Given the description of an element on the screen output the (x, y) to click on. 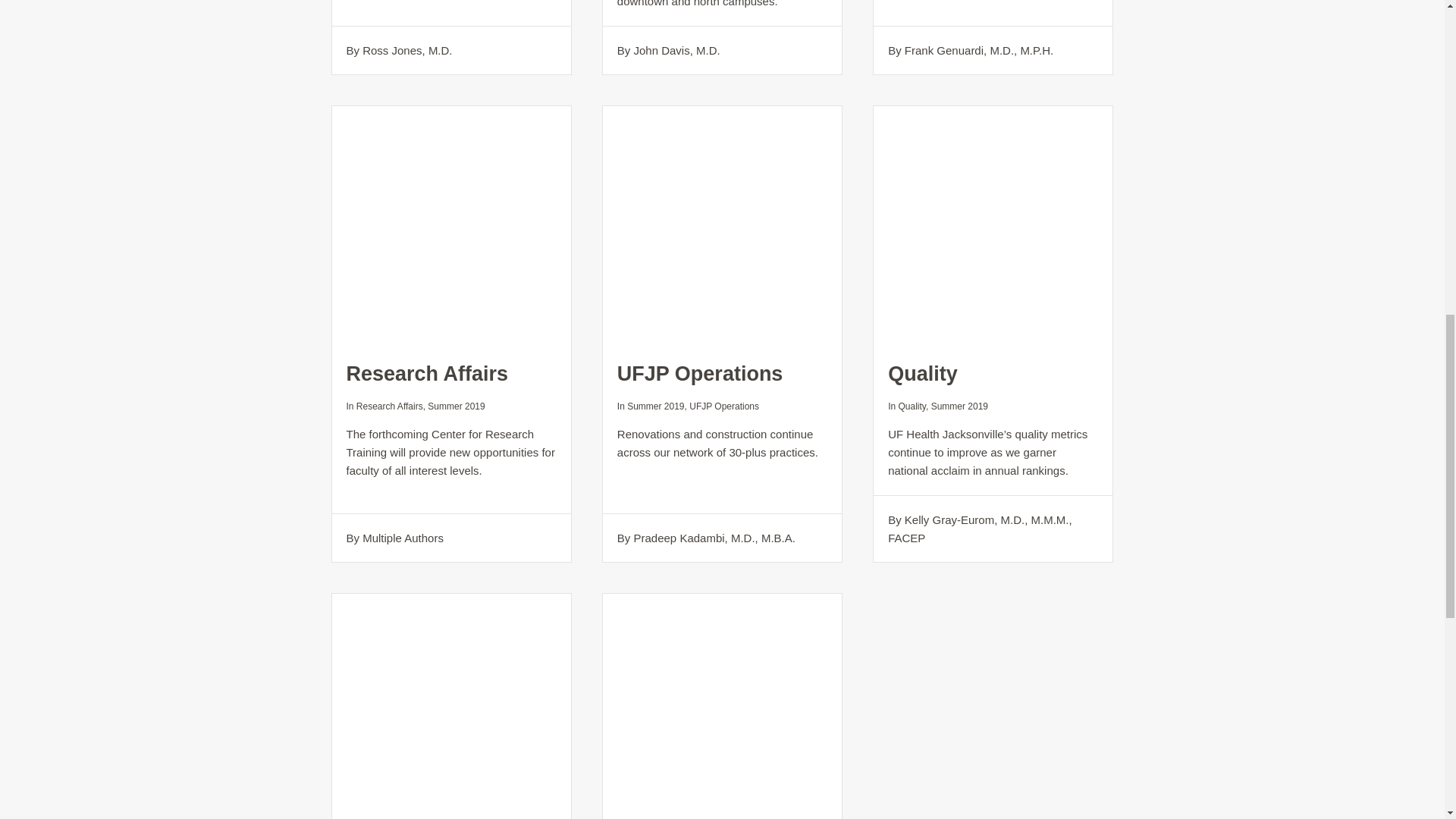
Wildlight rendering (722, 225)
Quality cover (992, 225)
